Given the description of an element on the screen output the (x, y) to click on. 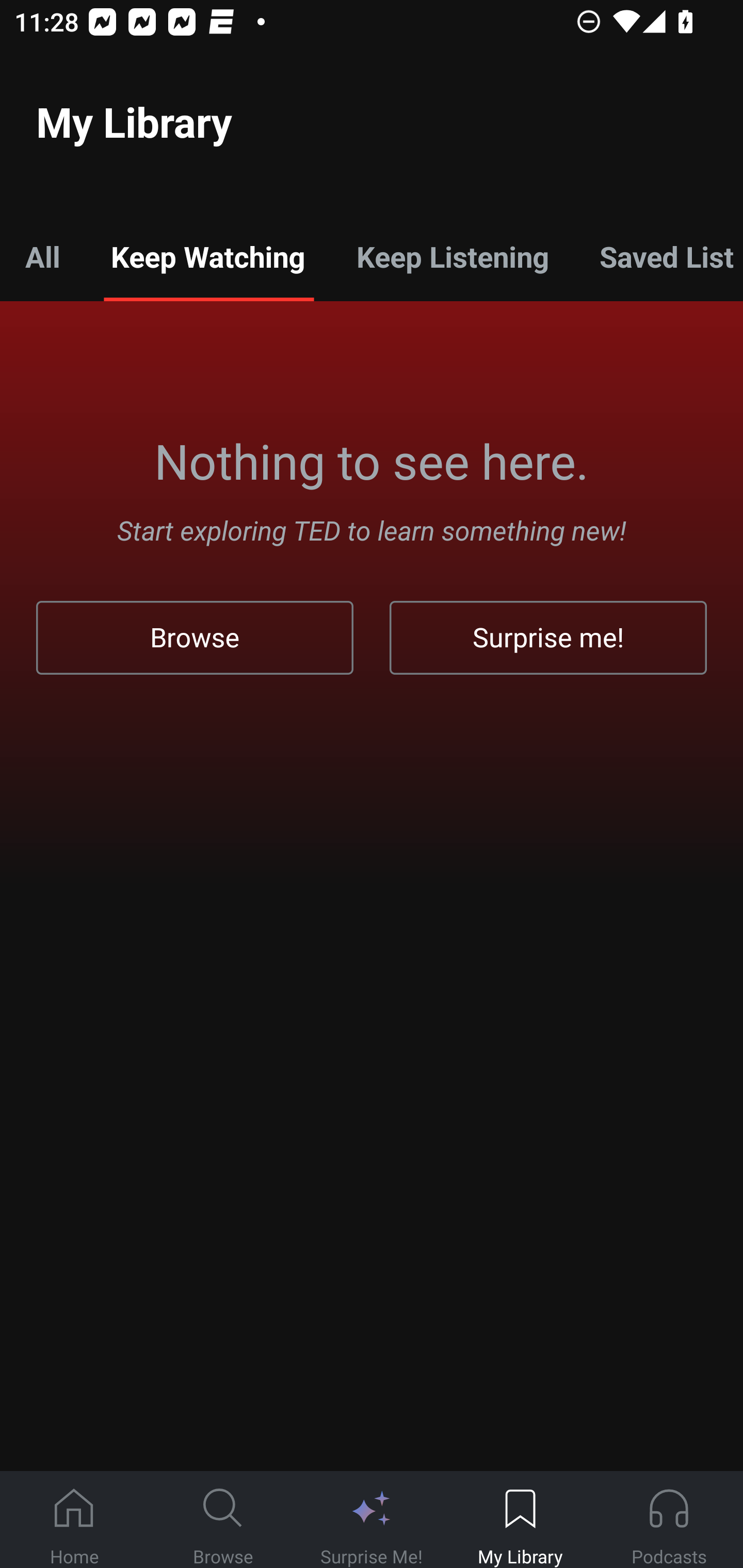
All (42, 256)
Keep Watching (207, 256)
Keep Listening (452, 256)
Saved List (658, 256)
Browse (194, 637)
Surprise me! (547, 637)
Home (74, 1520)
Browse (222, 1520)
Surprise Me! (371, 1520)
My Library (519, 1520)
Podcasts (668, 1520)
